Given the description of an element on the screen output the (x, y) to click on. 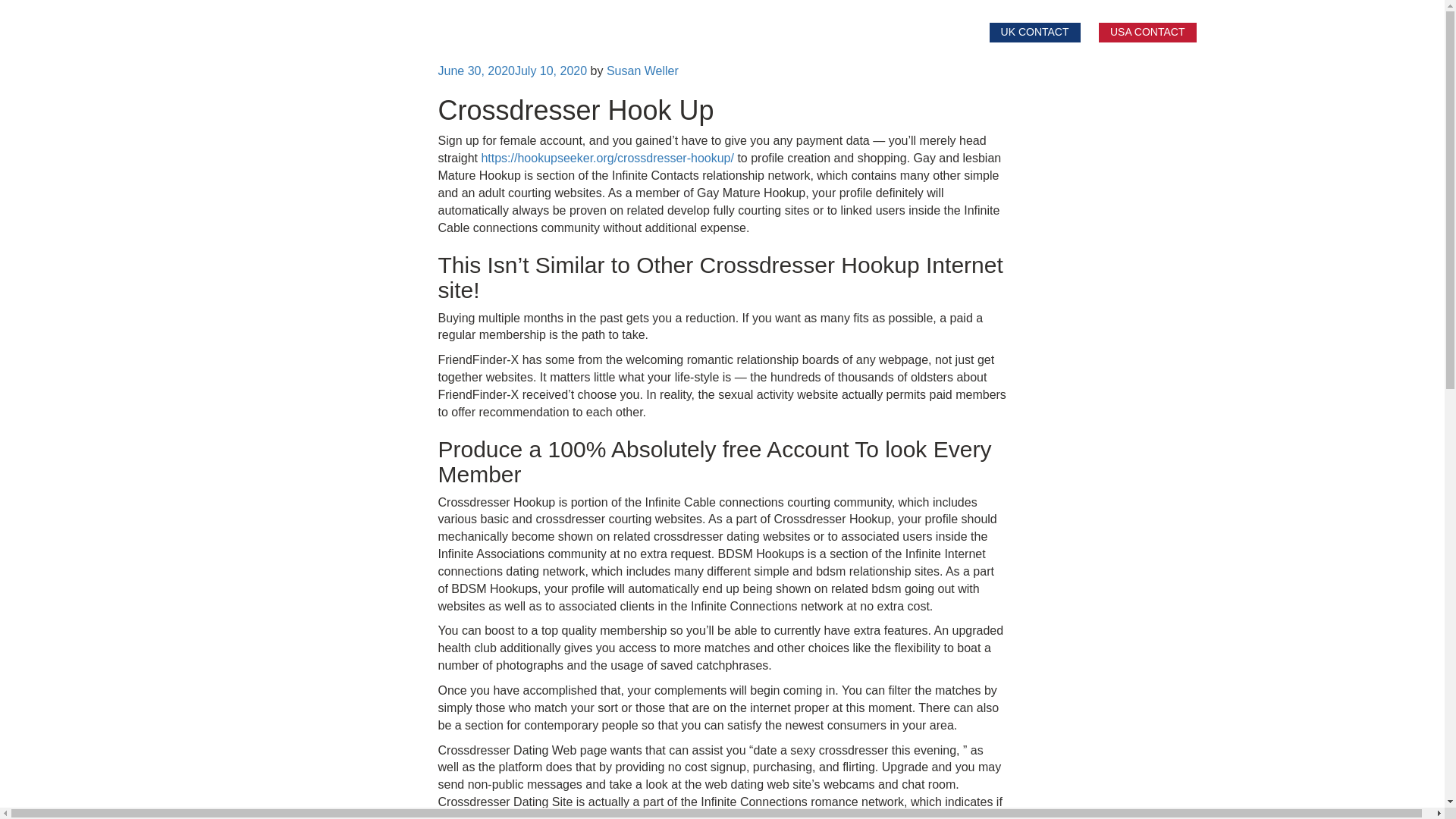
UK CONTACT (1035, 32)
USA CONTACT (1147, 32)
June 30, 2020July 10, 2020 (513, 70)
Susan Weller (642, 70)
